Given the description of an element on the screen output the (x, y) to click on. 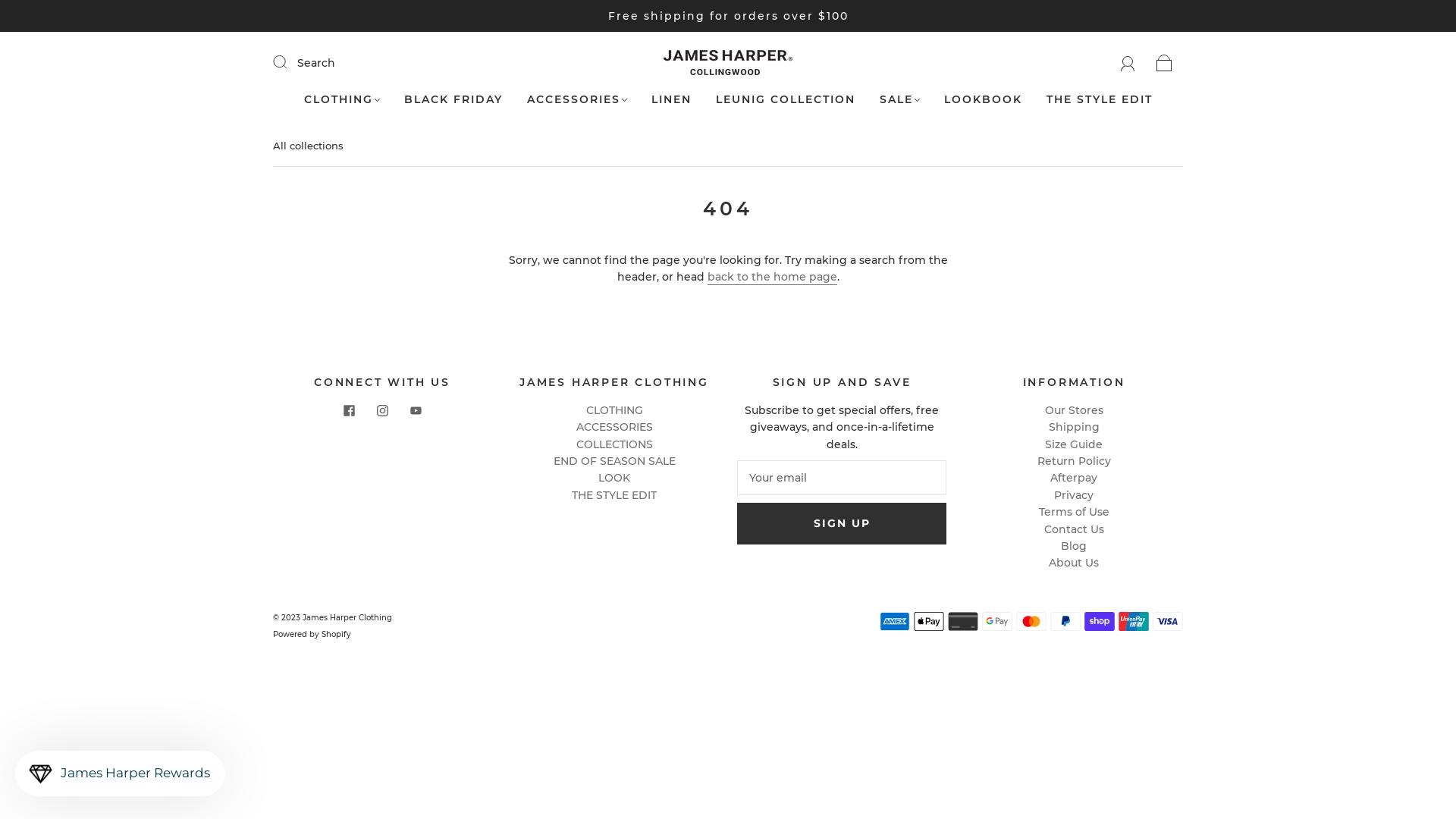
James Harper Clothing Element type: text (347, 617)
Afterpay Element type: text (1073, 477)
All collections Element type: text (308, 145)
James Harper Rewards Element type: text (120, 773)
CLOTHING Element type: text (341, 99)
Powered by Shopify Element type: text (312, 634)
END OF SEASON SALE Element type: text (614, 460)
LINEN Element type: text (670, 99)
Our Stores Element type: text (1073, 410)
Return Policy Element type: text (1073, 460)
SIGN UP Element type: text (841, 522)
Privacy Element type: text (1073, 495)
ACCESSORIES Element type: text (614, 426)
About Us Element type: text (1073, 562)
Free shipping for orders over $100 Element type: text (728, 15)
THE STYLE EDIT Element type: text (613, 495)
Contact Us Element type: text (1073, 529)
CLOTHING Element type: text (613, 410)
Shipping Element type: text (1073, 426)
THE STYLE EDIT Element type: text (1099, 99)
COLLECTIONS Element type: text (614, 444)
LOOKBOOK Element type: text (982, 99)
BLACK FRIDAY Element type: text (452, 99)
Size Guide Element type: text (1073, 444)
LOOK Element type: text (614, 477)
ACCESSORIES Element type: text (576, 99)
Terms of Use Element type: text (1073, 511)
Blog Element type: text (1073, 545)
SALE Element type: text (899, 99)
back to the home page Element type: text (771, 277)
LEUNIG COLLECTION Element type: text (785, 99)
